Given the description of an element on the screen output the (x, y) to click on. 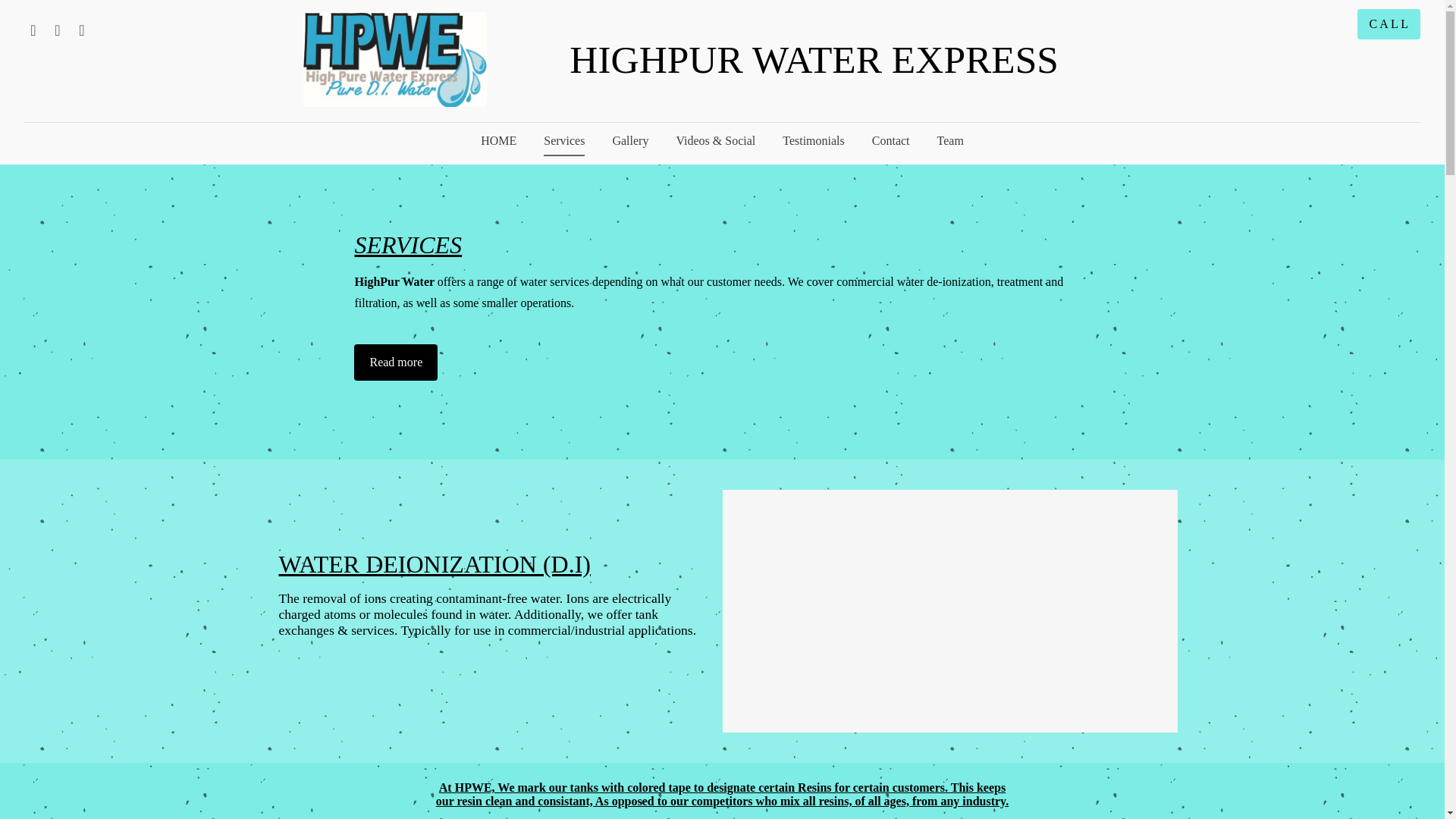
Services (563, 141)
Contact (890, 141)
HIGHPUR WATER EXPRESS (813, 59)
Team (949, 141)
HOME (498, 141)
C A L L (1388, 24)
Gallery (630, 141)
Read more (395, 361)
Testimonials (813, 141)
